Given the description of an element on the screen output the (x, y) to click on. 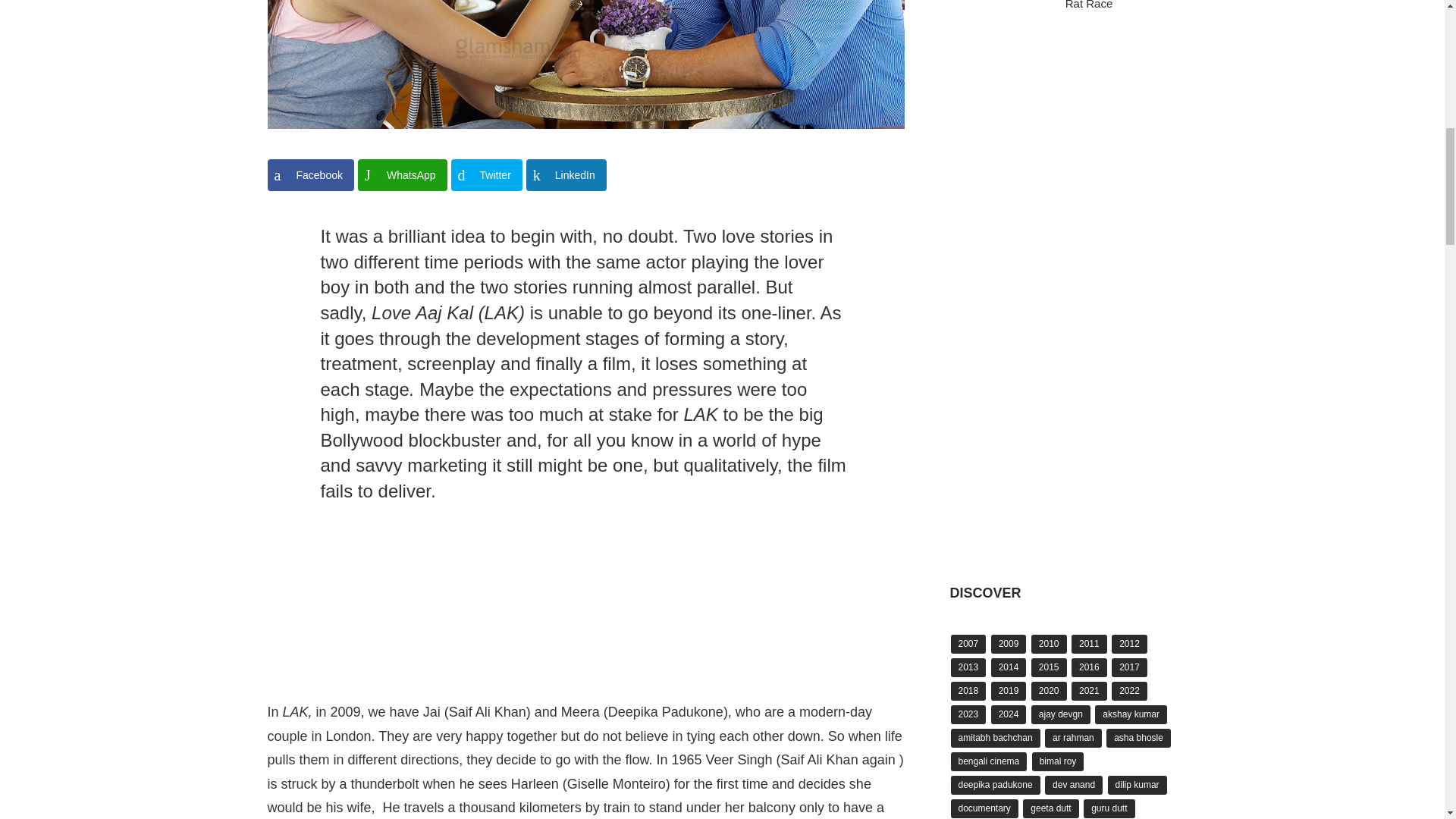
Advertisement (585, 618)
Share on LinkedIn (566, 174)
Twitter (486, 174)
Share on Facebook (309, 174)
WhatsApp (402, 174)
Share on Twitter (486, 174)
Share on WhatsApp (402, 174)
LinkedIn (566, 174)
Facebook (309, 174)
